Given the description of an element on the screen output the (x, y) to click on. 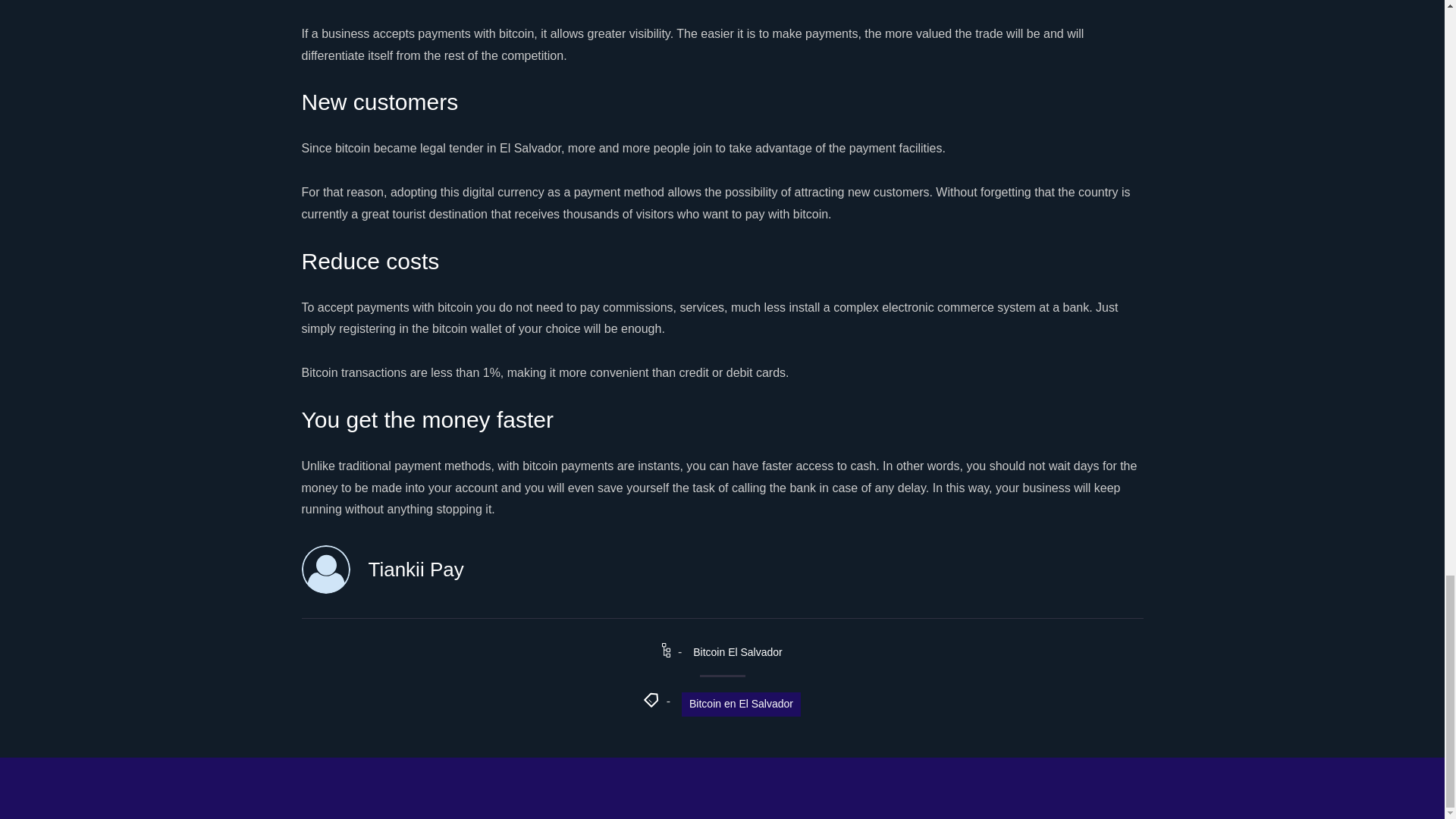
Bitcoin El Salvador (738, 652)
Bitcoin en El Salvador (740, 703)
Bitcoin en El Salvador (740, 703)
Bitcoin El Salvador (738, 652)
